Given the description of an element on the screen output the (x, y) to click on. 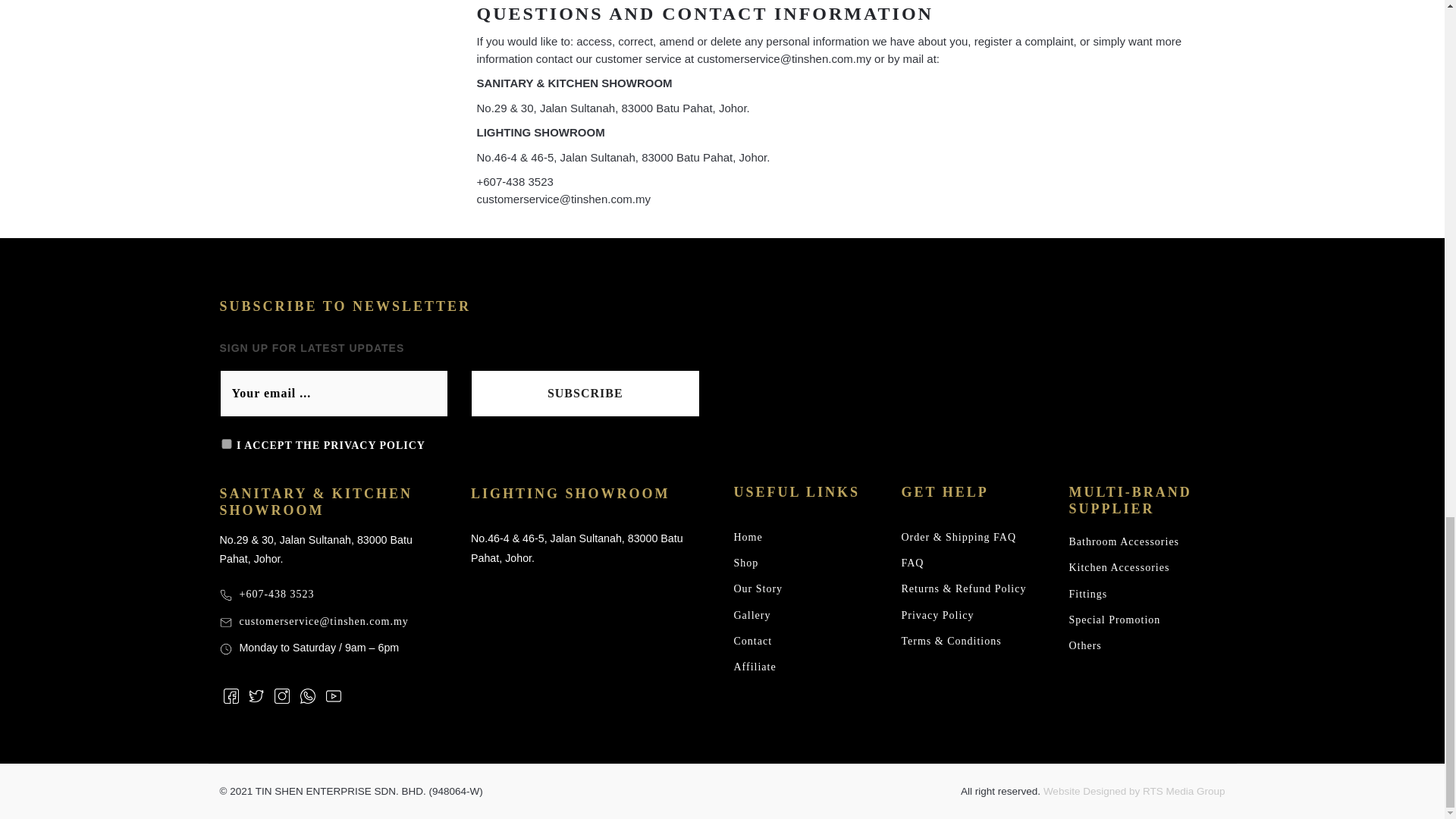
1 (225, 443)
Your email ... (333, 393)
Subscribe (585, 393)
